Given the description of an element on the screen output the (x, y) to click on. 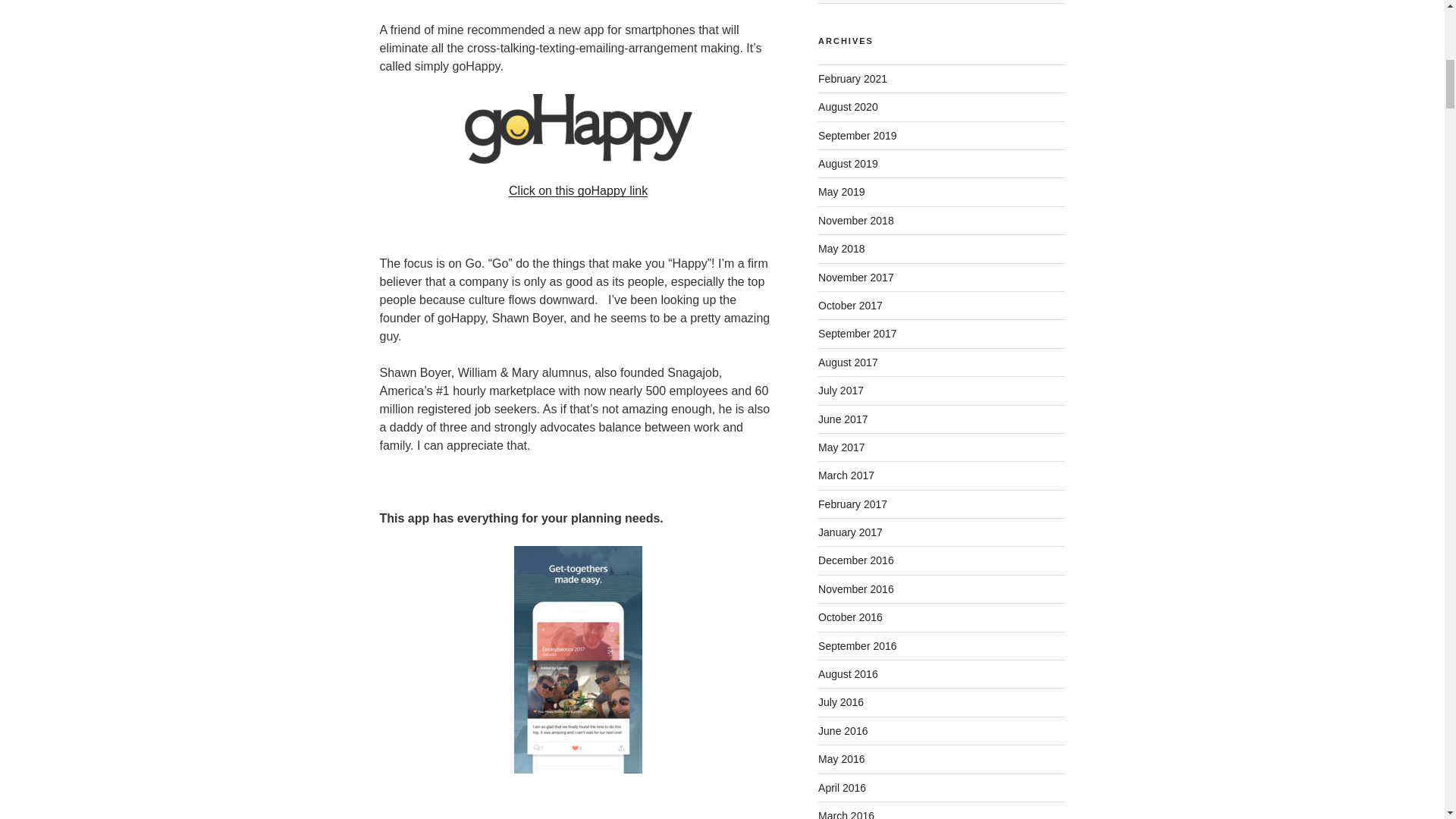
Click on this goHappy link (577, 190)
